Given the description of an element on the screen output the (x, y) to click on. 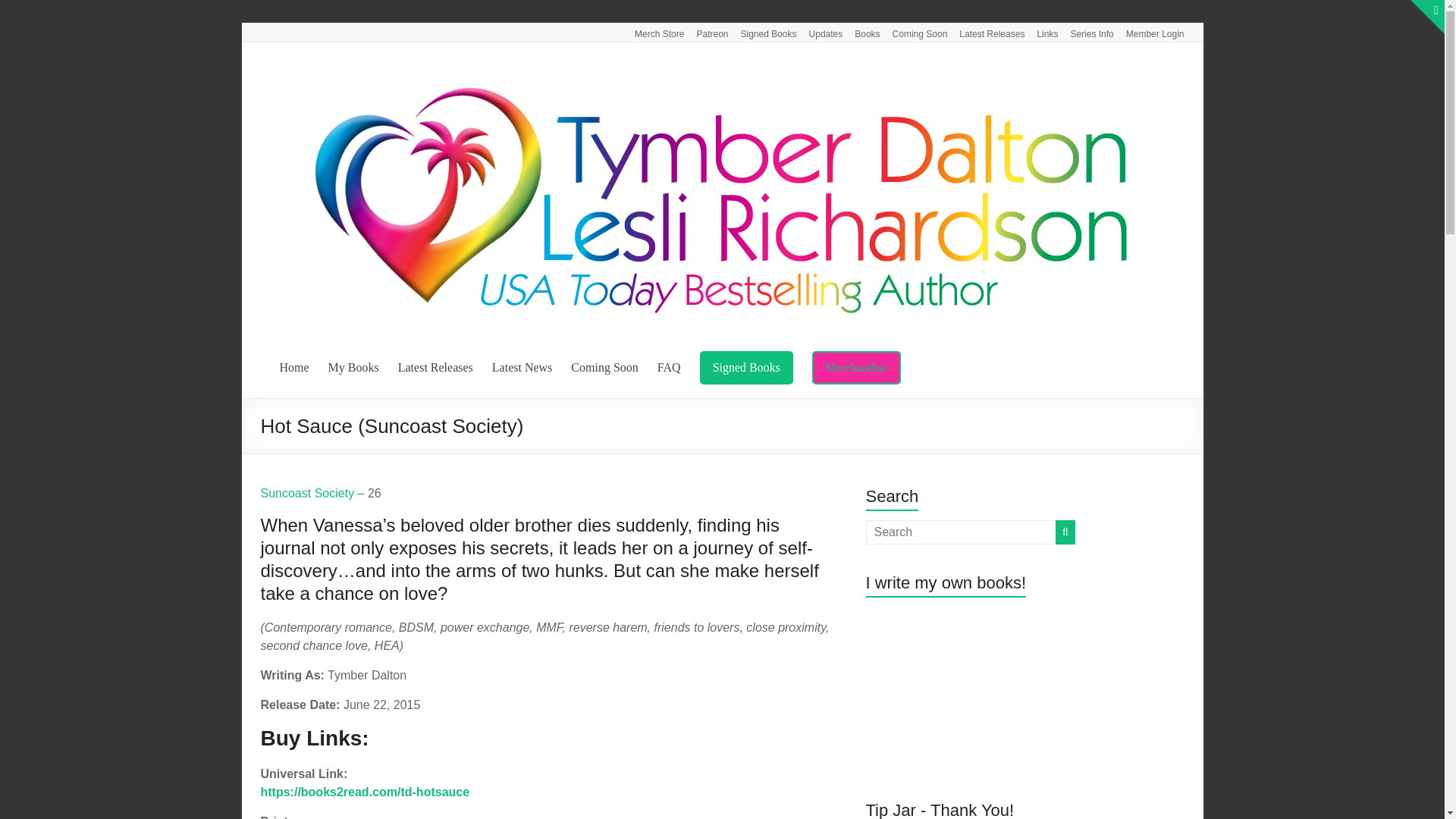
Signed Books (746, 367)
Merch Store (653, 31)
Updates (819, 31)
Merchandise (856, 367)
Coming Soon (913, 31)
Latest Releases (435, 367)
Home (293, 367)
Suncoast Society (307, 492)
Books (861, 31)
